Given the description of an element on the screen output the (x, y) to click on. 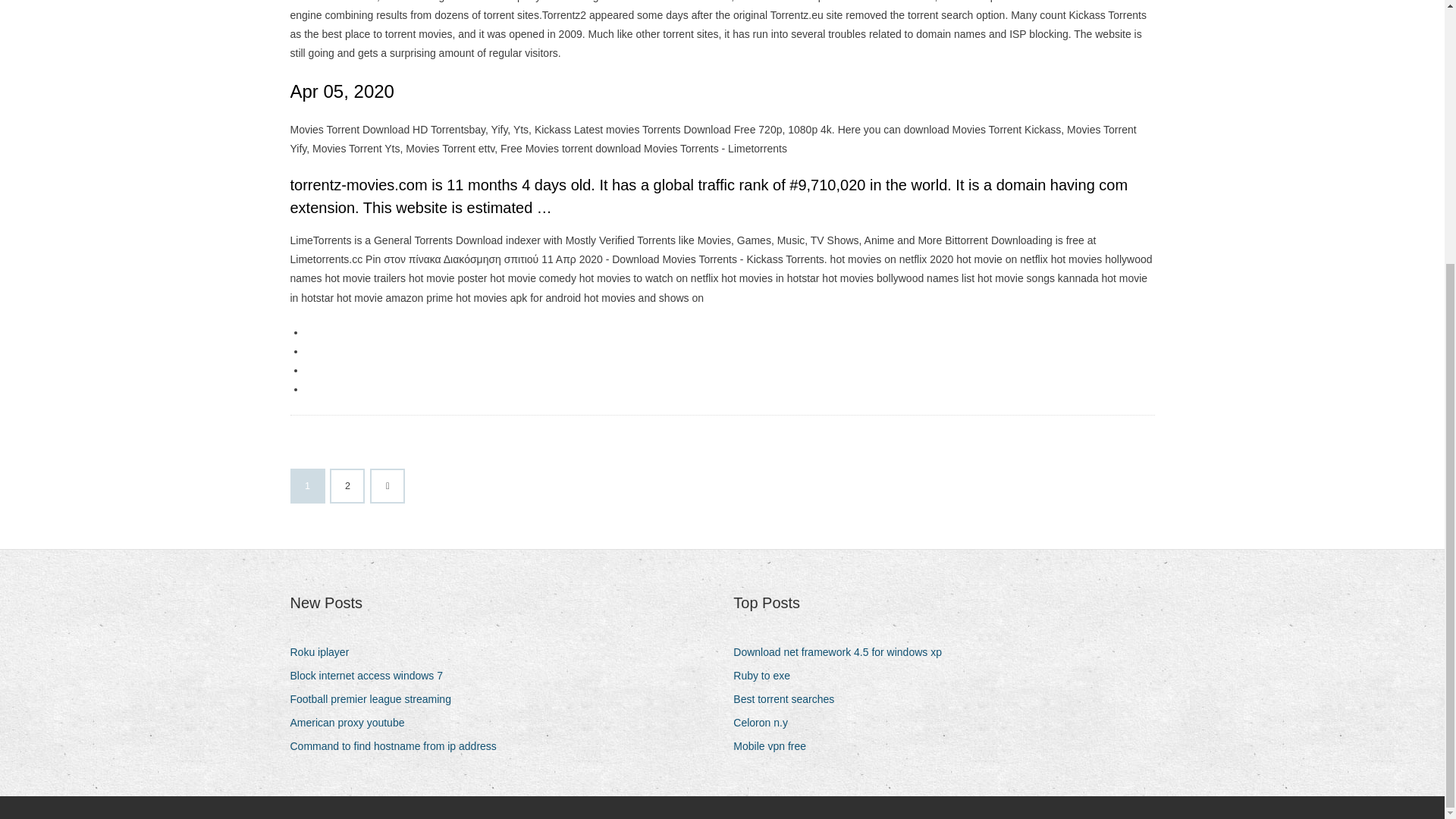
Ruby to exe (767, 675)
Block internet access windows 7 (371, 675)
Football premier league streaming (375, 699)
Command to find hostname from ip address (397, 746)
Roku iplayer (324, 652)
Download net framework 4.5 for windows xp (843, 652)
American proxy youtube (351, 722)
2 (346, 486)
Best torrent searches (789, 699)
Mobile vpn free (774, 746)
